Given the description of an element on the screen output the (x, y) to click on. 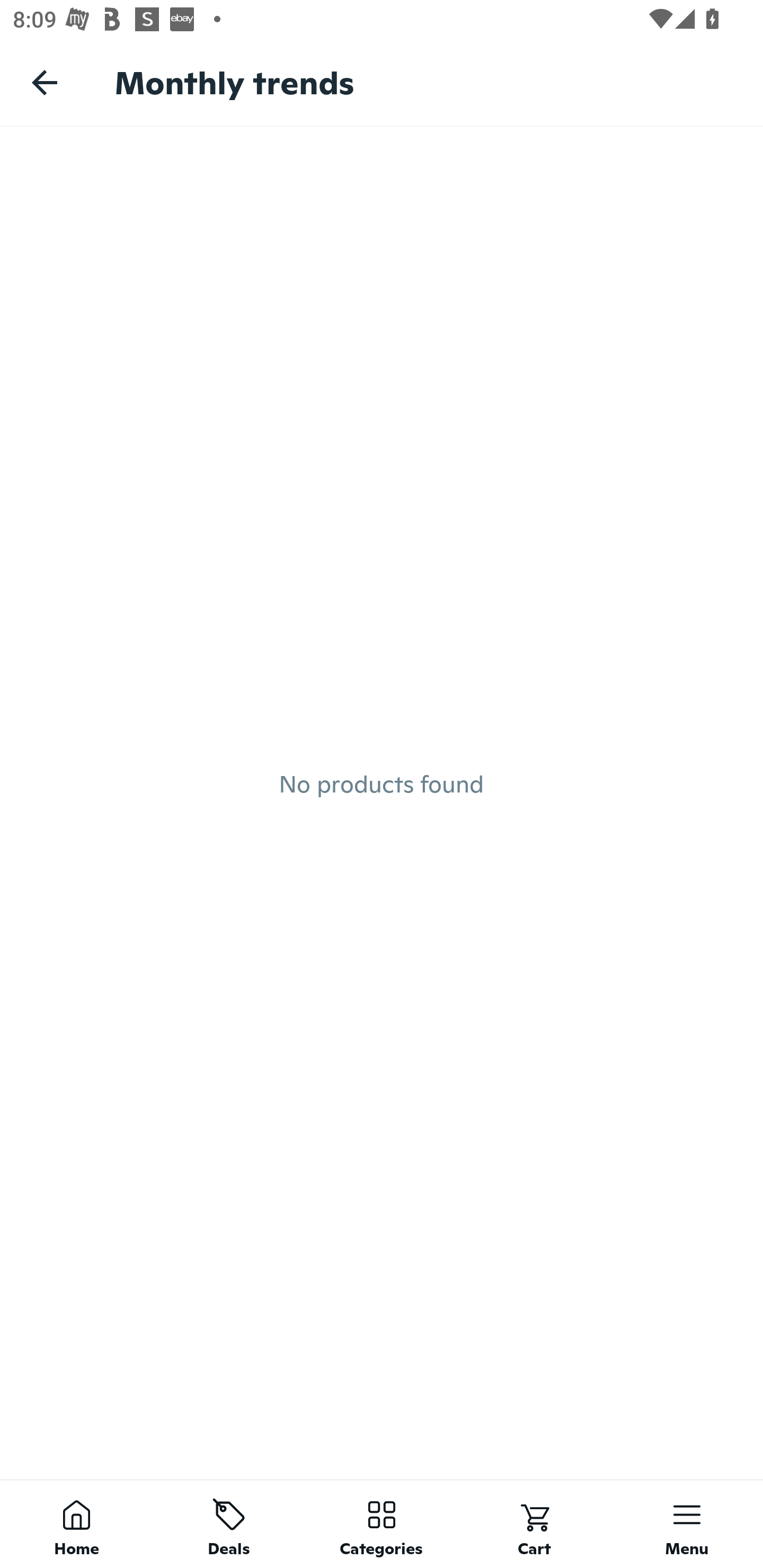
Navigate up (44, 82)
Home (76, 1523)
Deals (228, 1523)
Categories (381, 1523)
Cart (533, 1523)
Menu (686, 1523)
